Given the description of an element on the screen output the (x, y) to click on. 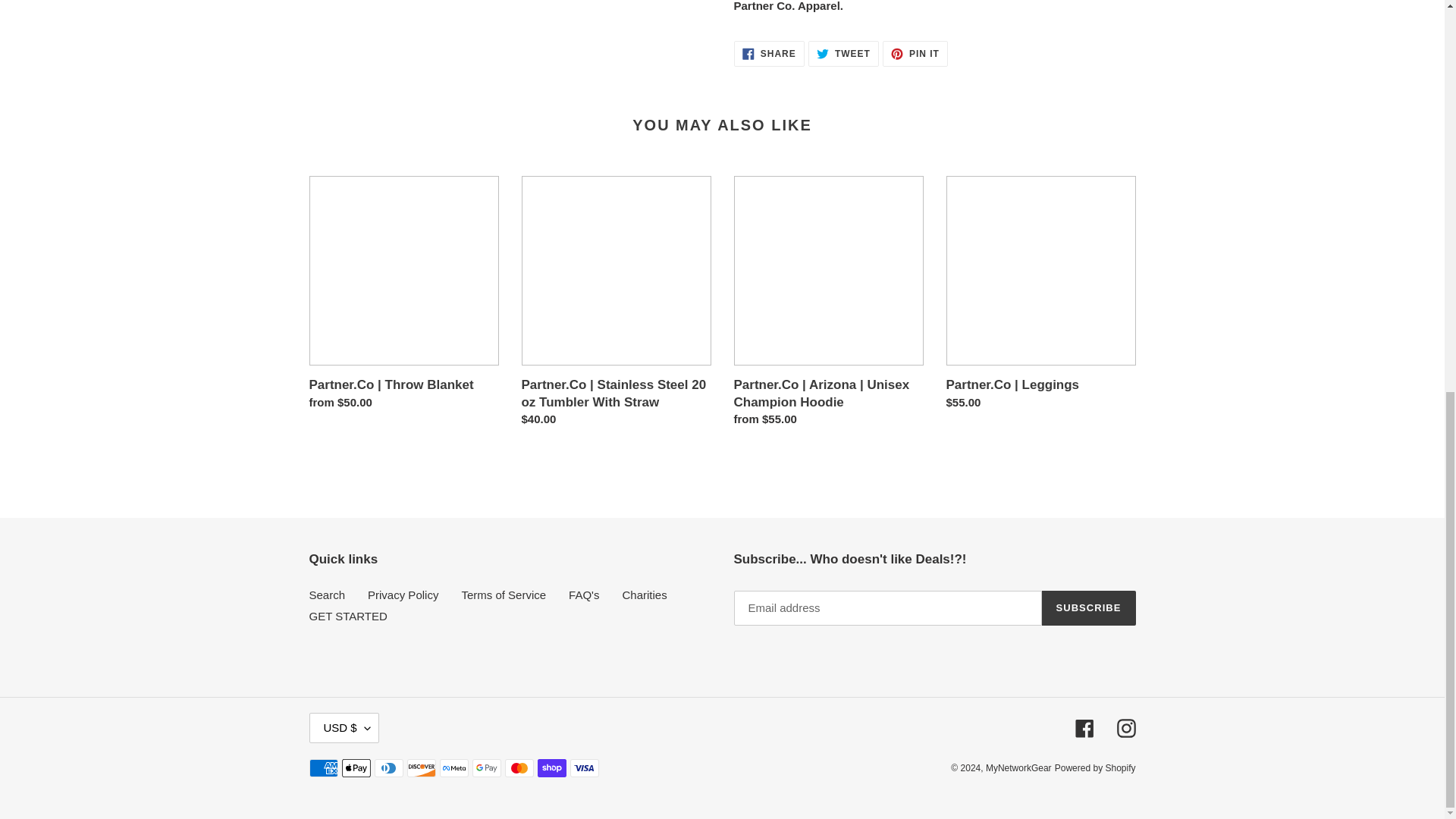
Search (769, 53)
